Given the description of an element on the screen output the (x, y) to click on. 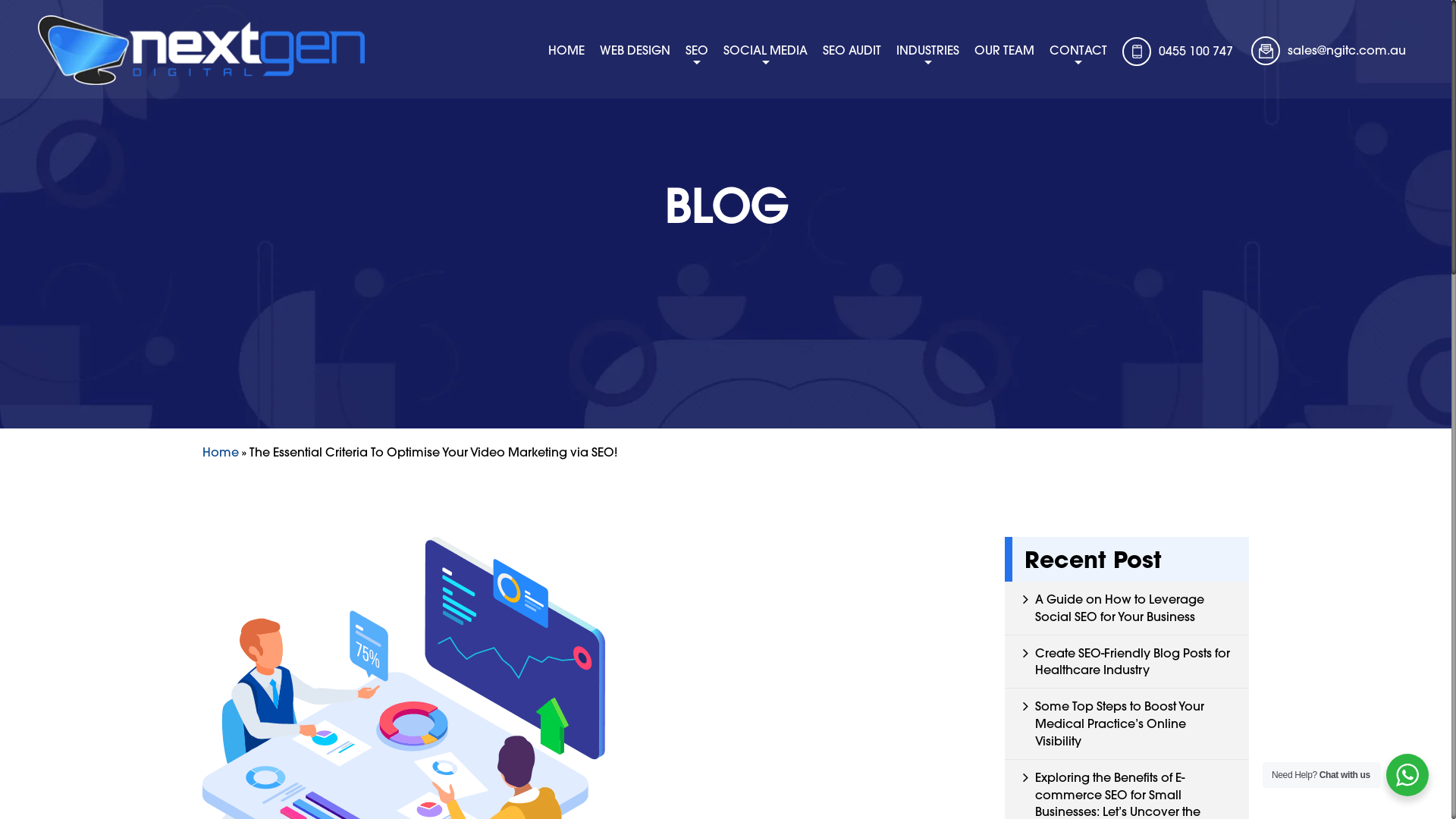
WEB DESIGN Element type: text (634, 49)
FAQ Element type: text (1167, 81)
SEO FOR SMALL BUSINESS Element type: text (1024, 81)
SEO AUDIT Element type: text (851, 49)
Home Element type: text (220, 451)
SEO SYDNEY Element type: text (803, 81)
0455 100 747 Element type: text (1192, 47)
LOCAL SEO MELBOURNE Element type: text (798, 81)
INDUSTRIES Element type: text (927, 49)
SOCIAL MEDIA Element type: text (765, 49)
SEO BRISBANE Element type: text (792, 81)
RESTAURANT SEO SERVICES Element type: text (1014, 81)
ECOMMERCE SEO Element type: text (1008, 81)
DENTAL SEO Element type: text (1018, 81)
NITRO PACK Element type: text (1150, 81)
SEO GOLD COAST Element type: text (807, 81)
A Guide on How to Leverage Social SEO for Your Business Element type: text (1118, 607)
OUR TEAM Element type: text (1004, 49)
INFLUENCER MARKETING Element type: text (823, 81)
Create SEO-Friendly Blog Posts for Healthcare Industry Element type: text (1131, 661)
MEDICAL SEO SERVICES Element type: text (1021, 81)
HEALTHCARE SEO Element type: text (996, 81)
TESTIMONIAL Element type: text (1156, 81)
sales@ngitc.com.au Element type: text (1342, 47)
SEO ADELAIDE Element type: text (786, 81)
HOME Element type: text (566, 49)
CONTACT Element type: text (1078, 49)
SEO Element type: text (696, 49)
SEO FOR ACCOUNTANTS Element type: text (1003, 81)
BLOG Element type: text (1162, 81)
